Given the description of an element on the screen output the (x, y) to click on. 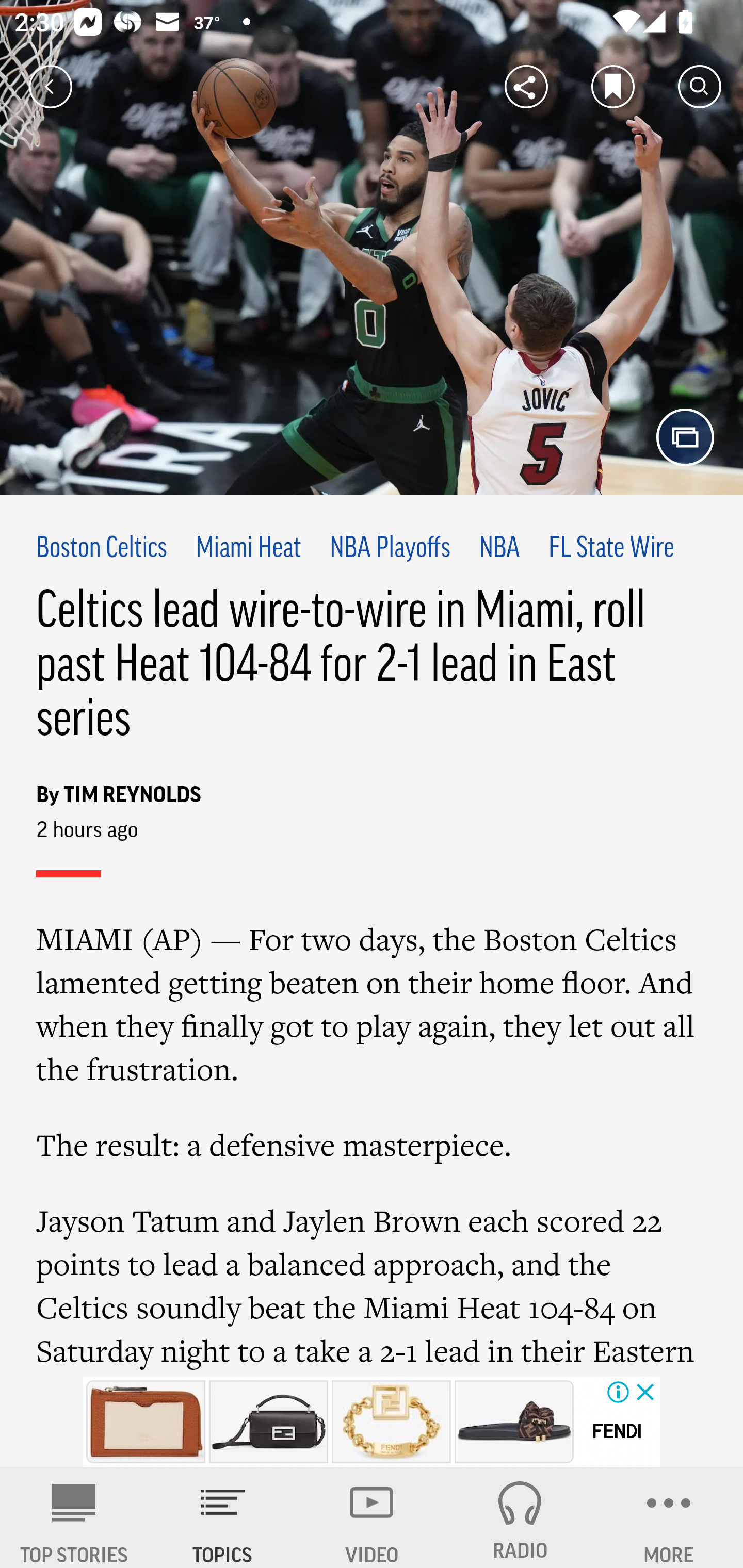
AP News TOP STORIES (74, 1517)
TOPICS (222, 1517)
VIDEO (371, 1517)
RADIO (519, 1517)
MORE (668, 1517)
